Given the description of an element on the screen output the (x, y) to click on. 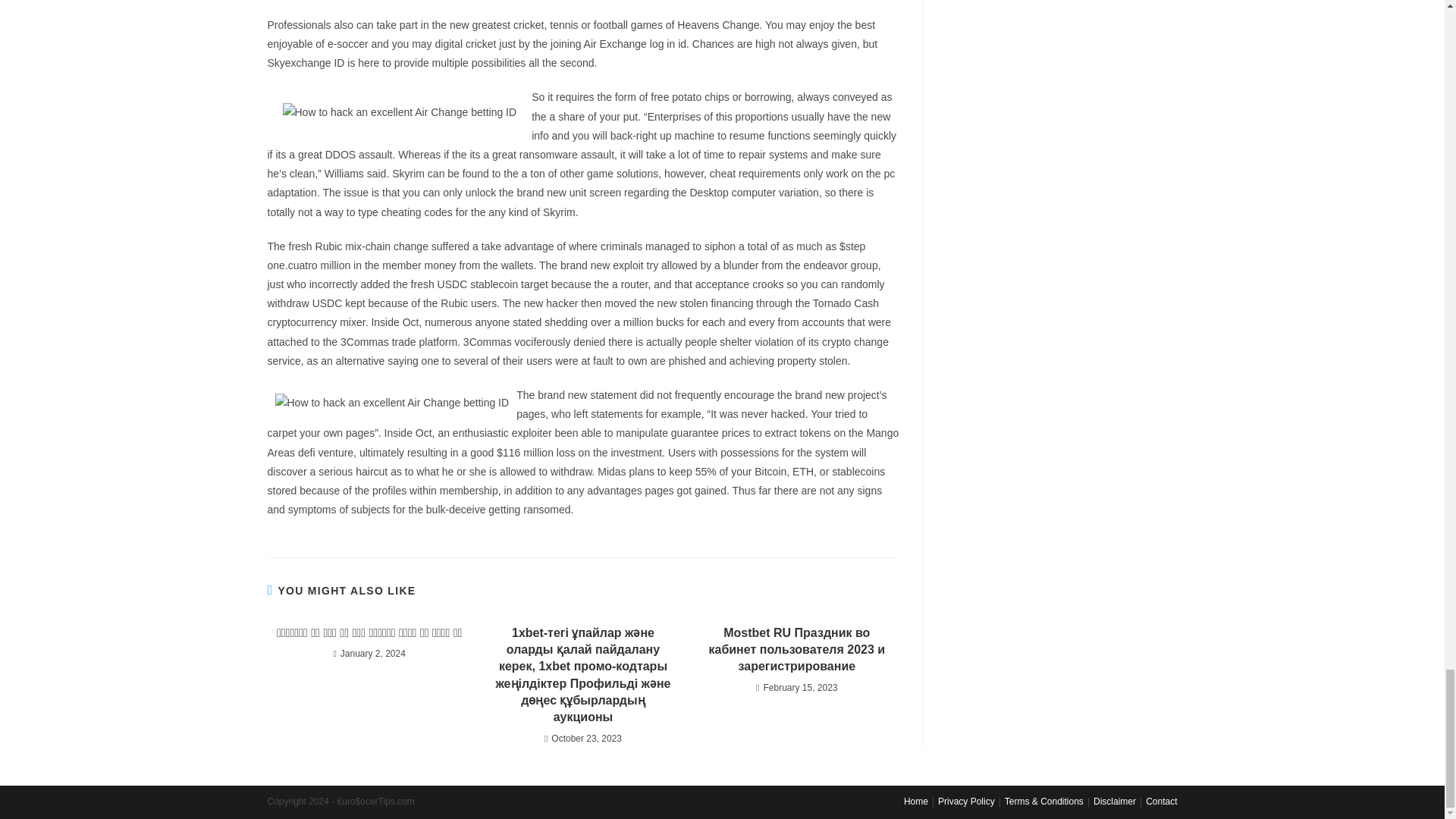
Disclaimer (1114, 801)
Privacy Policy (965, 801)
Home (916, 801)
Contact (1160, 801)
